Given the description of an element on the screen output the (x, y) to click on. 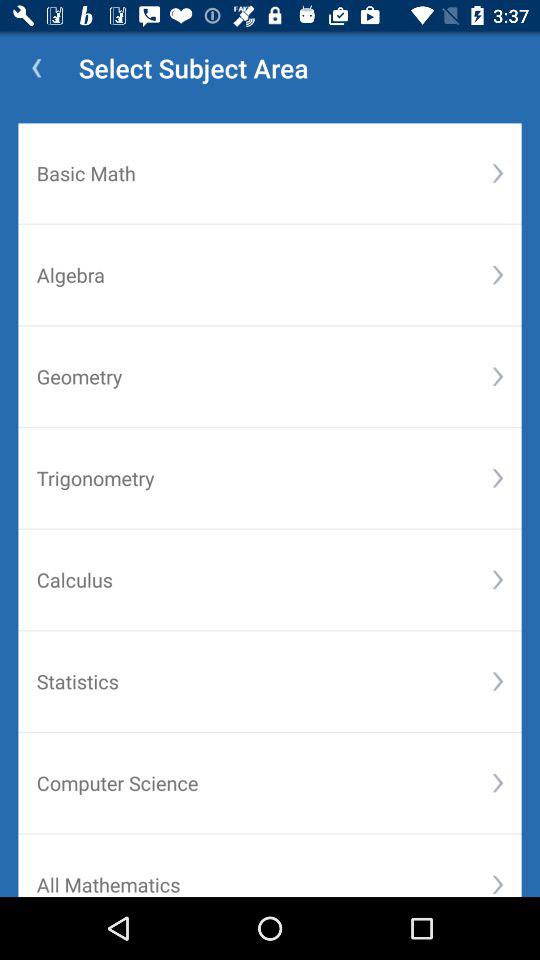
open item below statistics (497, 782)
